Given the description of an element on the screen output the (x, y) to click on. 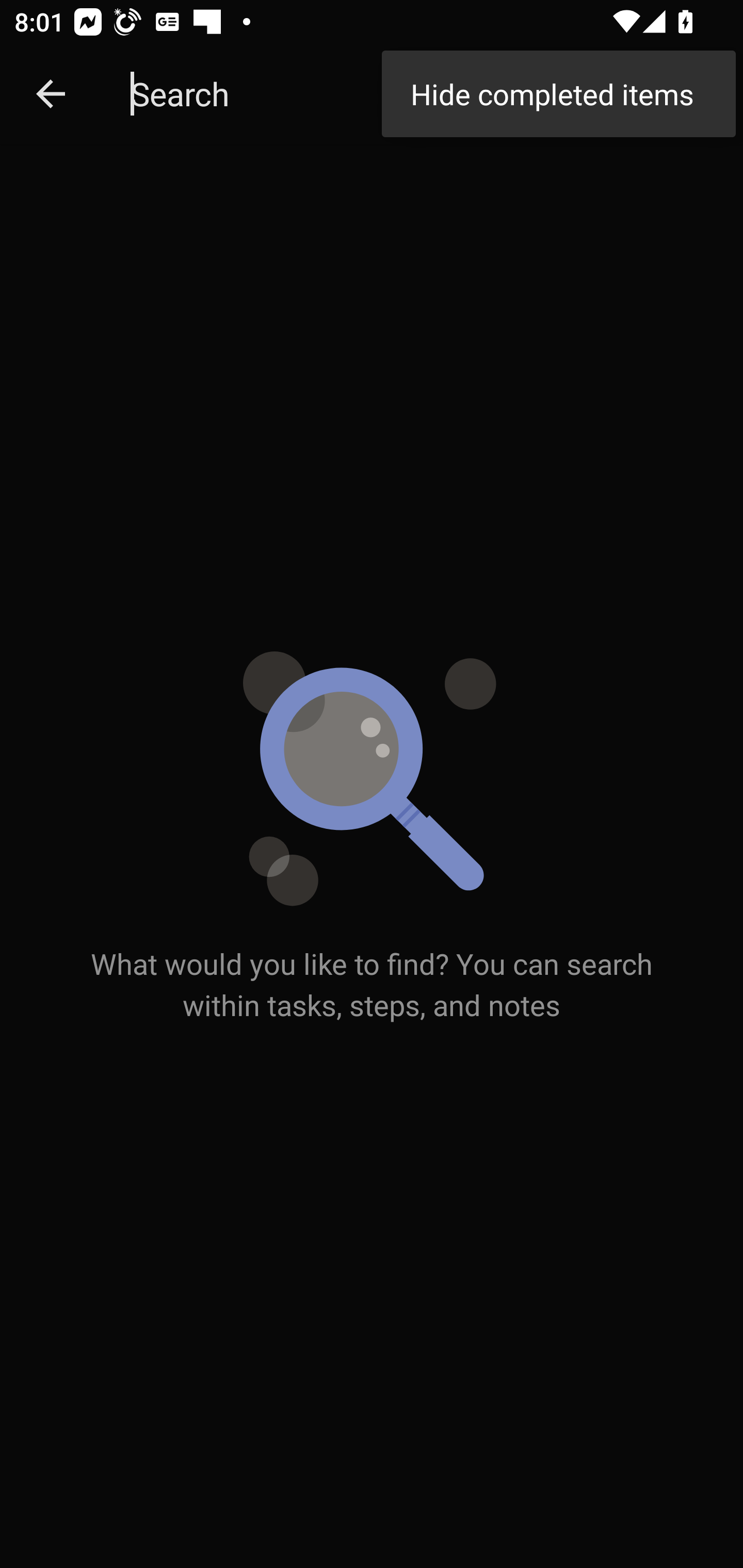
Hide completed items (558, 93)
